Given the description of an element on the screen output the (x, y) to click on. 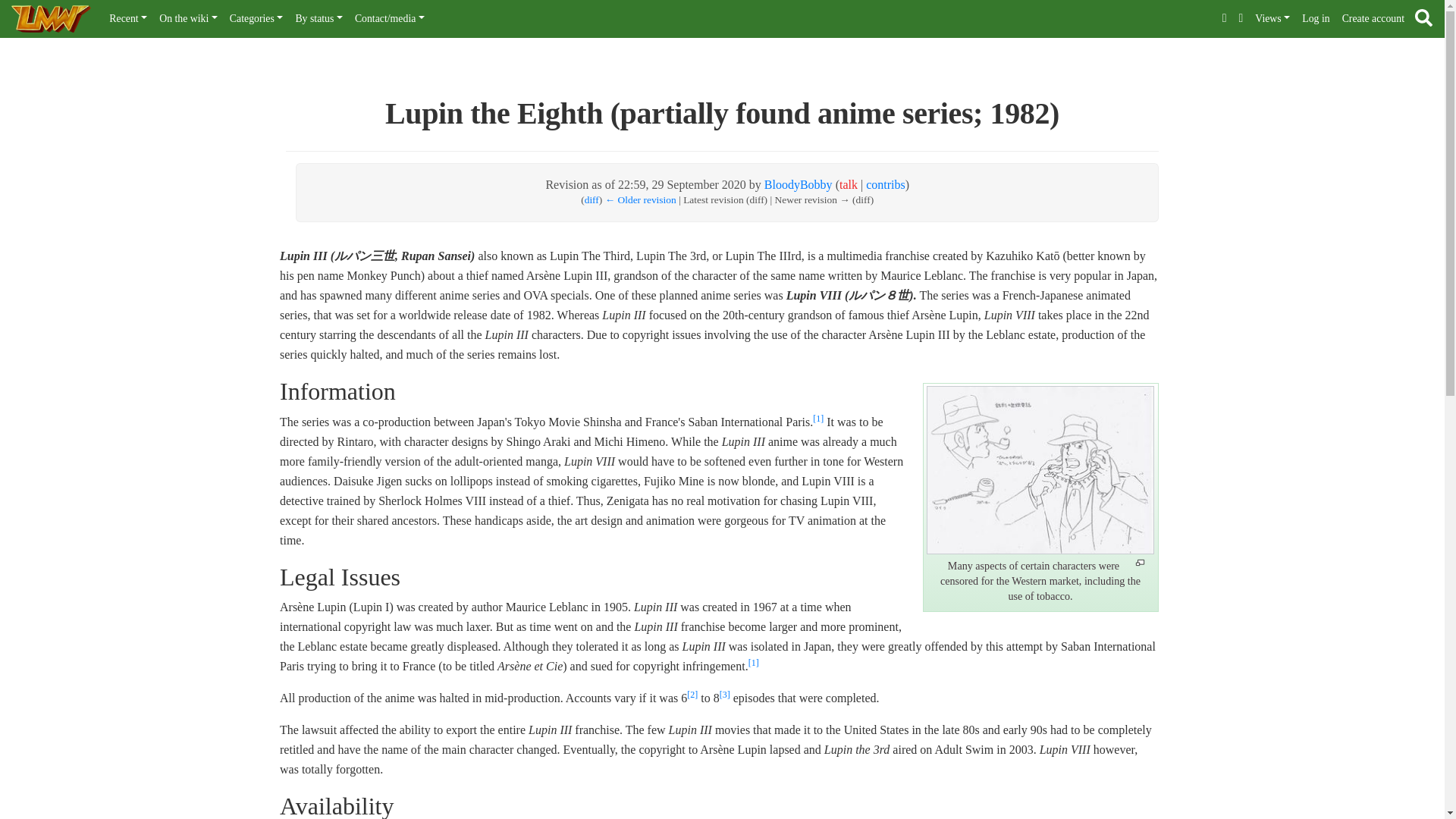
Enlarge (1139, 562)
Recent (127, 19)
By status (318, 19)
On the wiki (188, 19)
User:BloodyBobby (798, 184)
Categories (256, 19)
